Given the description of an element on the screen output the (x, y) to click on. 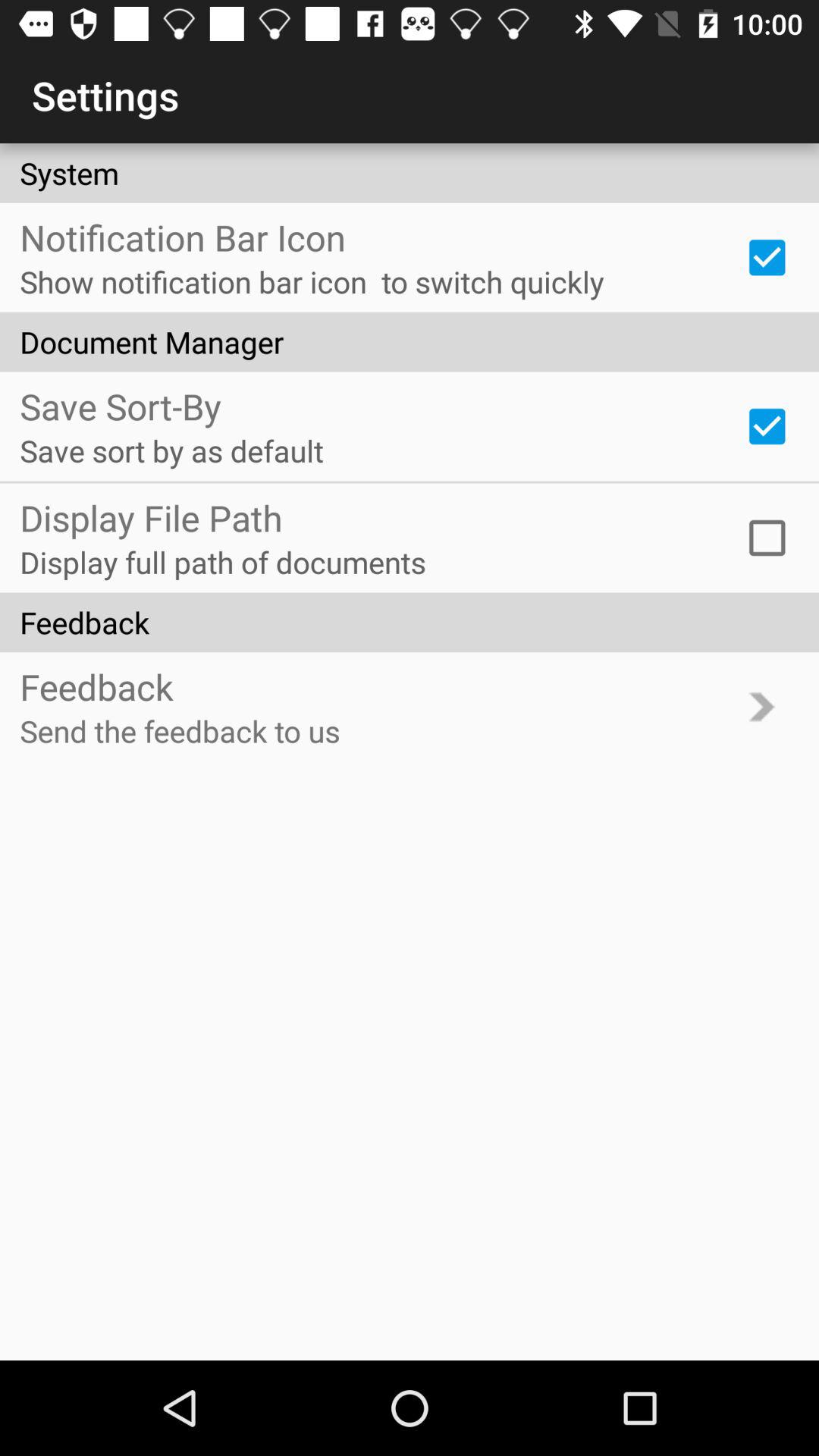
toggle display file path (767, 537)
